Given the description of an element on the screen output the (x, y) to click on. 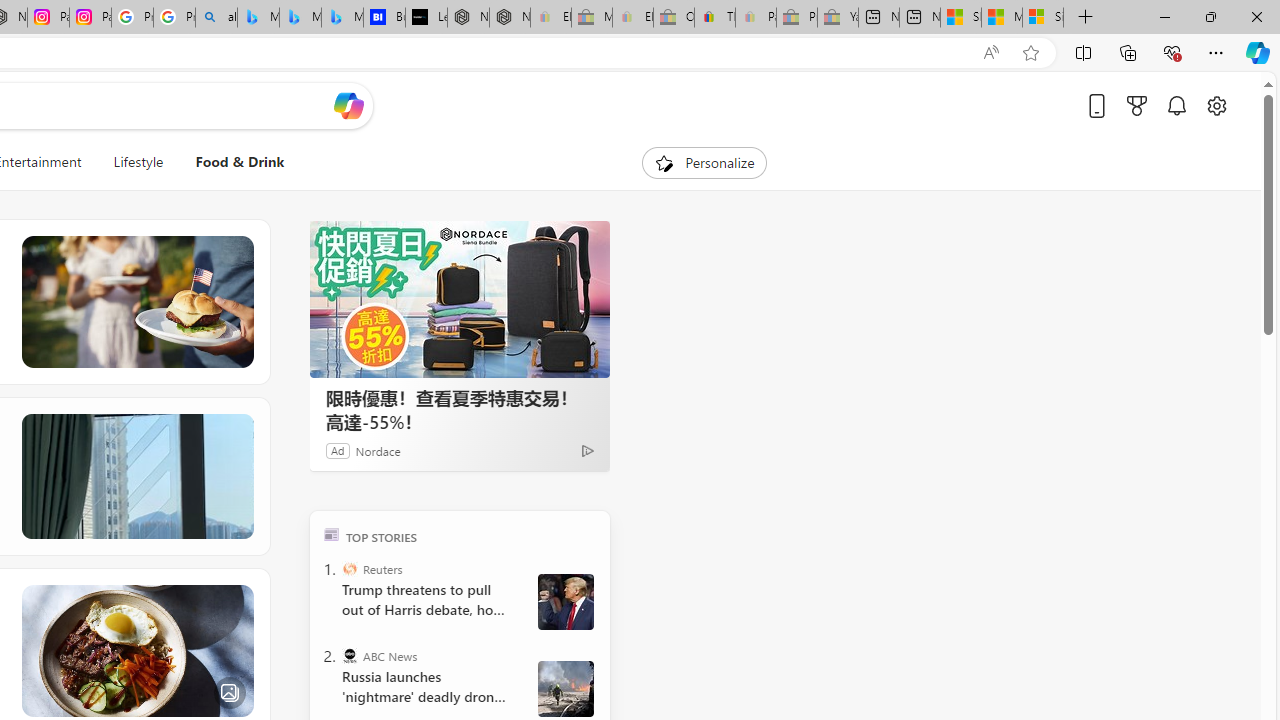
Microsoft rewards (1137, 105)
Food & Drink (239, 162)
ABC News (349, 655)
Yard, Garden & Outdoor Living - Sleeping (837, 17)
Personalize (703, 162)
